Given the description of an element on the screen output the (x, y) to click on. 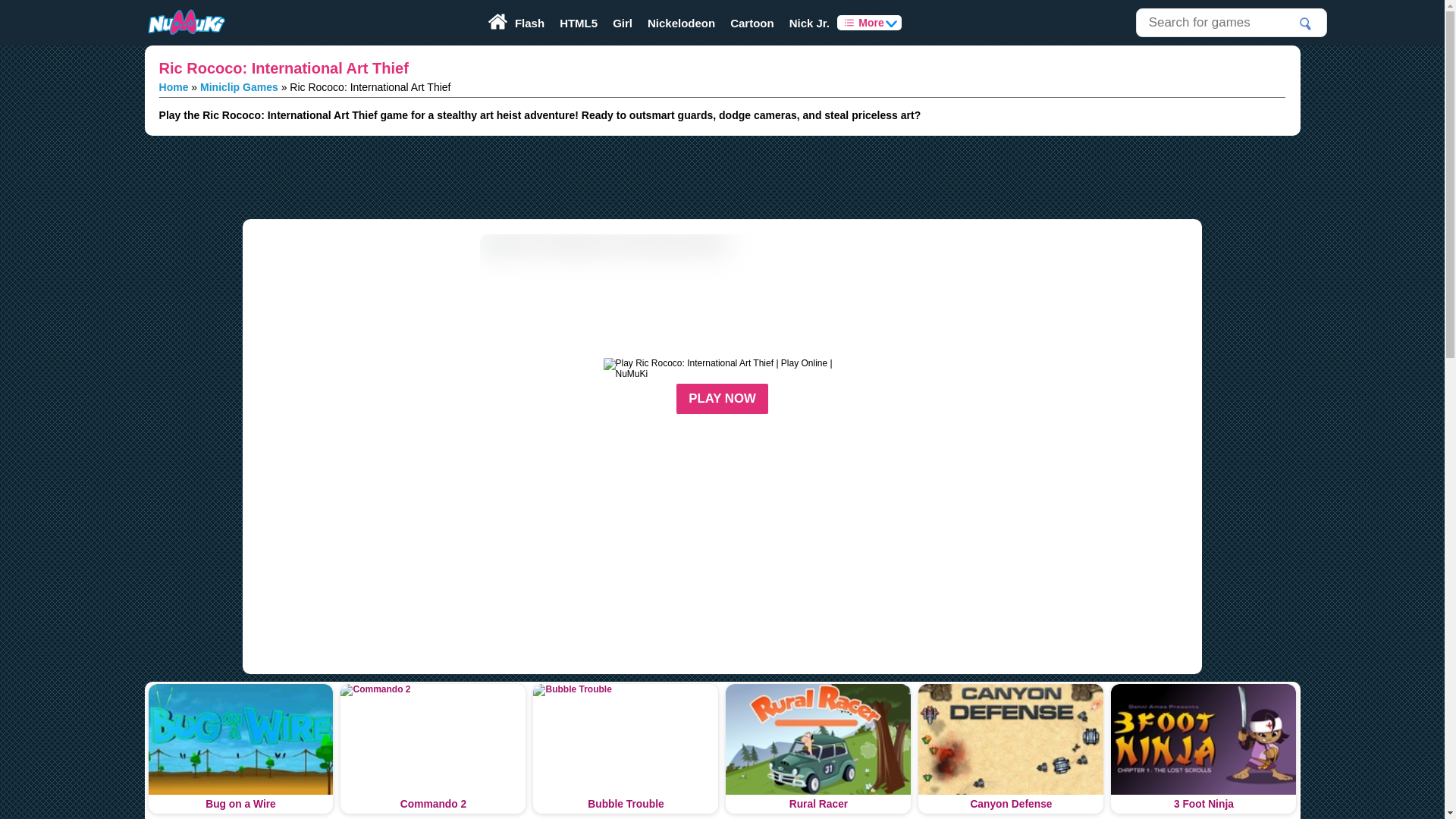
Home (173, 87)
Flash (528, 22)
Girl Games (622, 22)
Nickelodeon (681, 22)
Nickelodeon Games (681, 22)
Cartoon (751, 22)
HTML5 (578, 22)
Girl (622, 22)
Flash Games (528, 22)
